Given the description of an element on the screen output the (x, y) to click on. 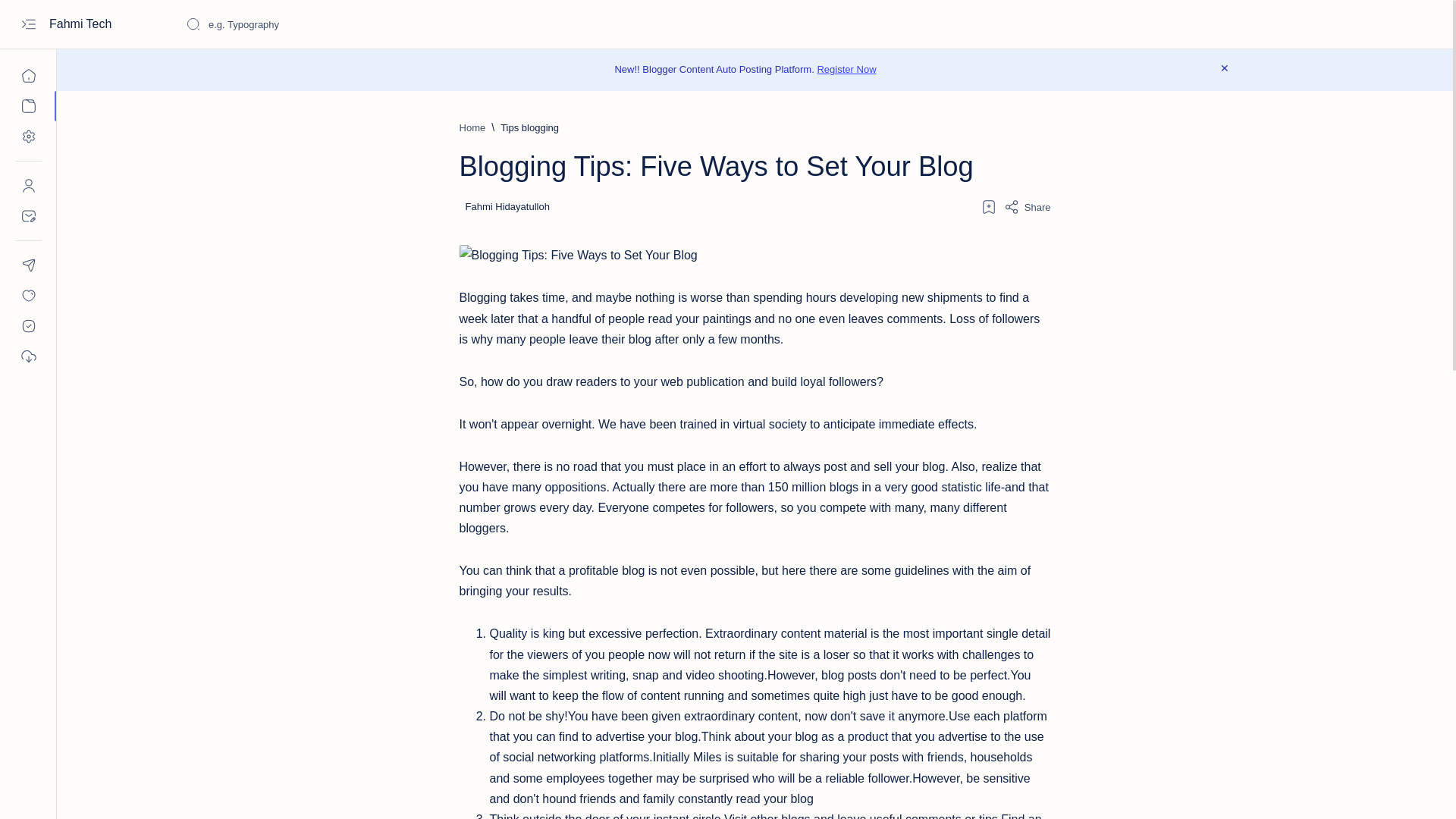
Add to bookmark (988, 206)
Home (473, 127)
Tips blogging (529, 127)
Fahmi Tech (82, 23)
Register Now (846, 69)
